Given the description of an element on the screen output the (x, y) to click on. 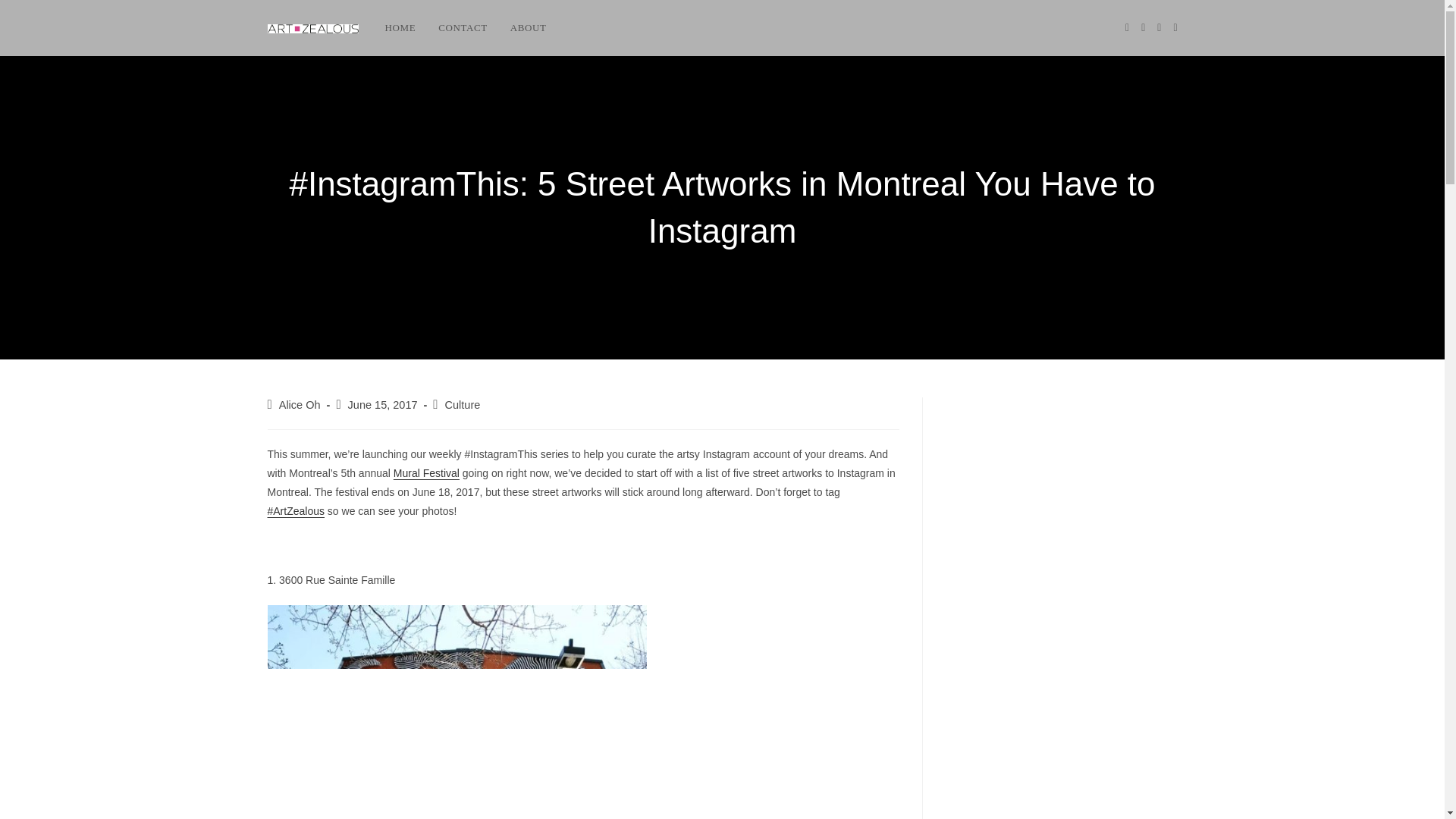
CONTACT (462, 28)
Mural Festival (426, 472)
Alice Oh (299, 404)
ABOUT (528, 28)
Posts by Alice Oh (299, 404)
HOME (399, 28)
Culture (462, 404)
